Given the description of an element on the screen output the (x, y) to click on. 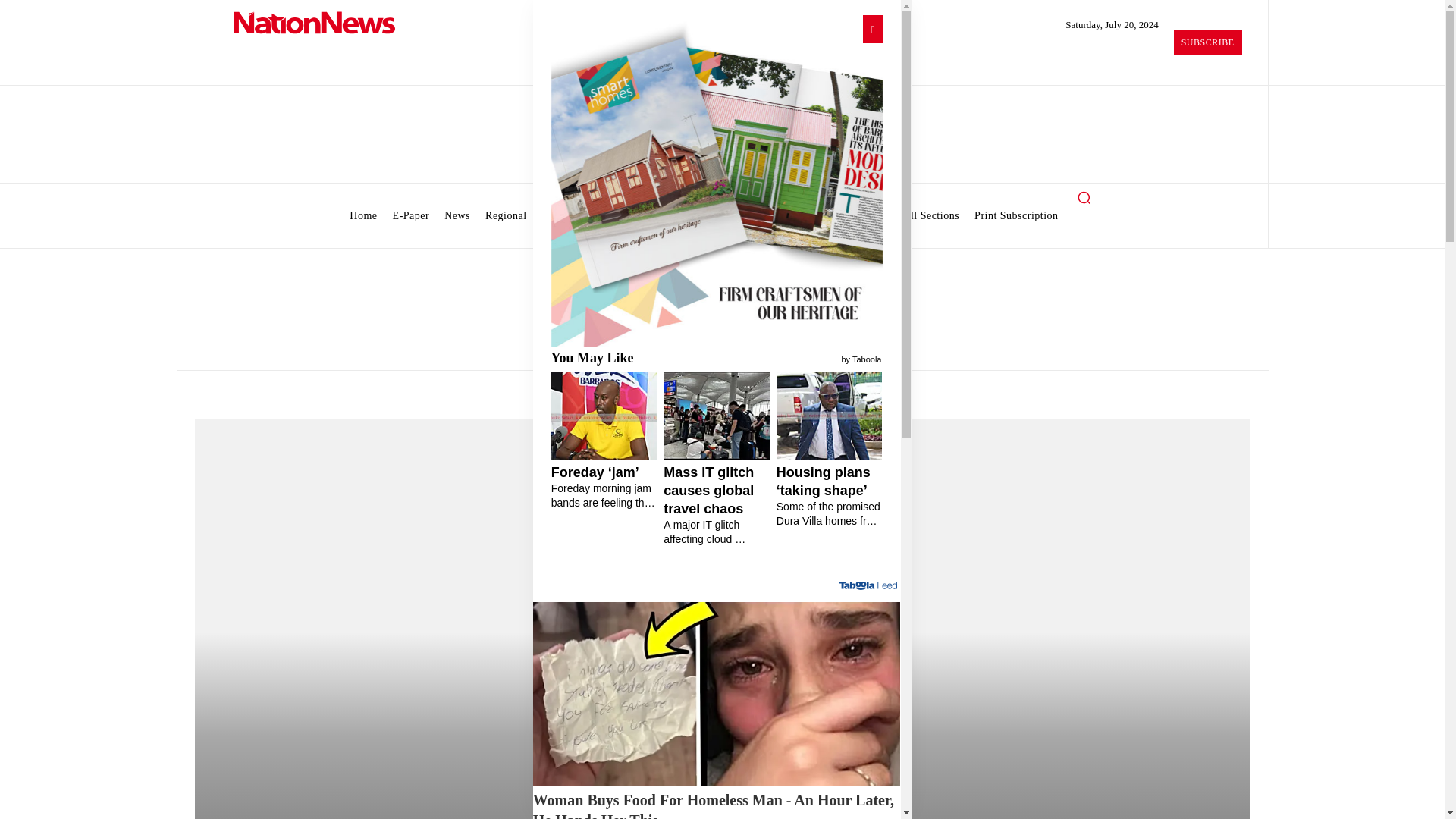
by Taboola (860, 357)
Smart Homes Pop Up (716, 180)
Mass IT glitch causes global travel chaos (716, 505)
